Given the description of an element on the screen output the (x, y) to click on. 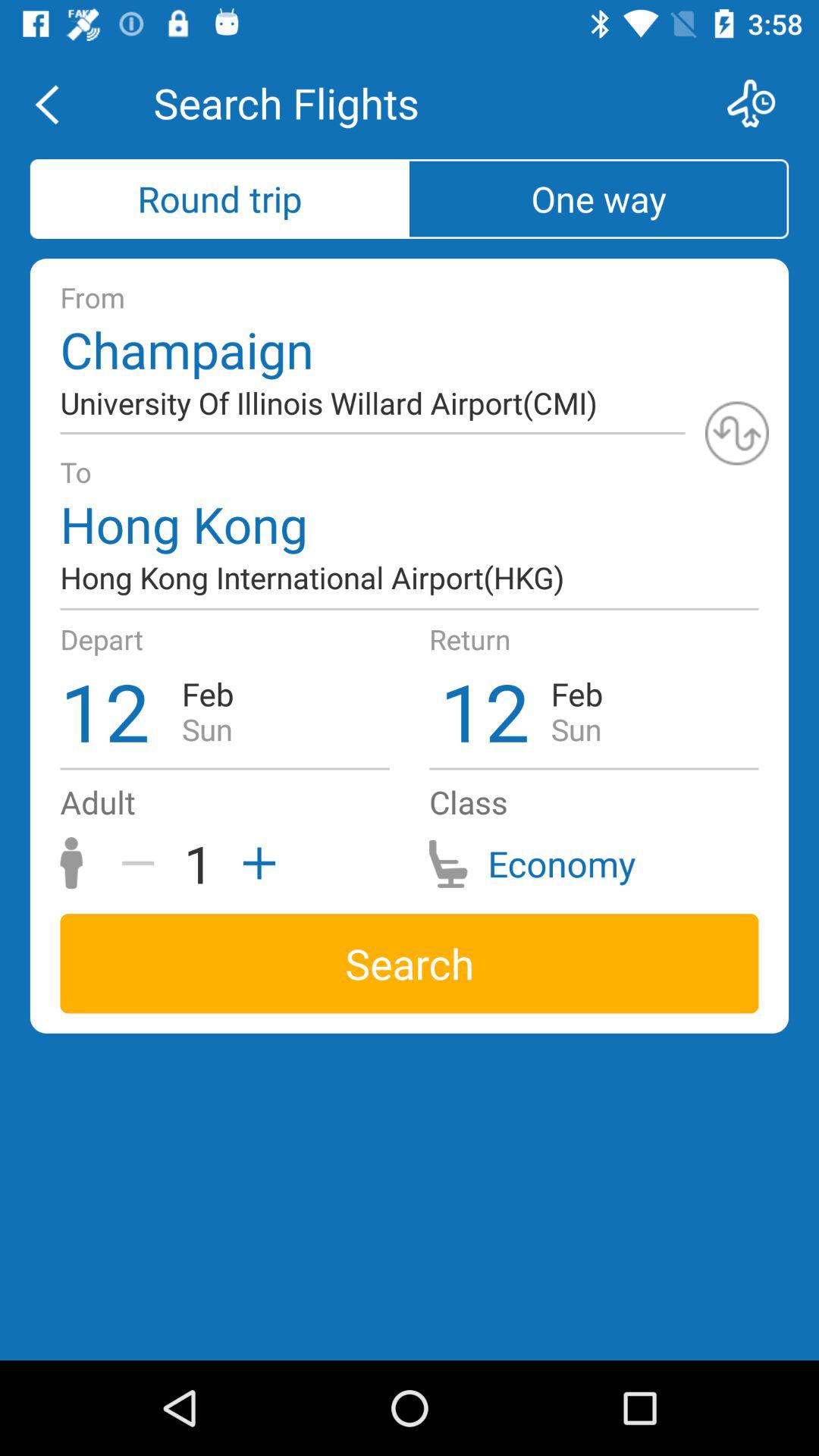
reverse locations (736, 433)
